Given the description of an element on the screen output the (x, y) to click on. 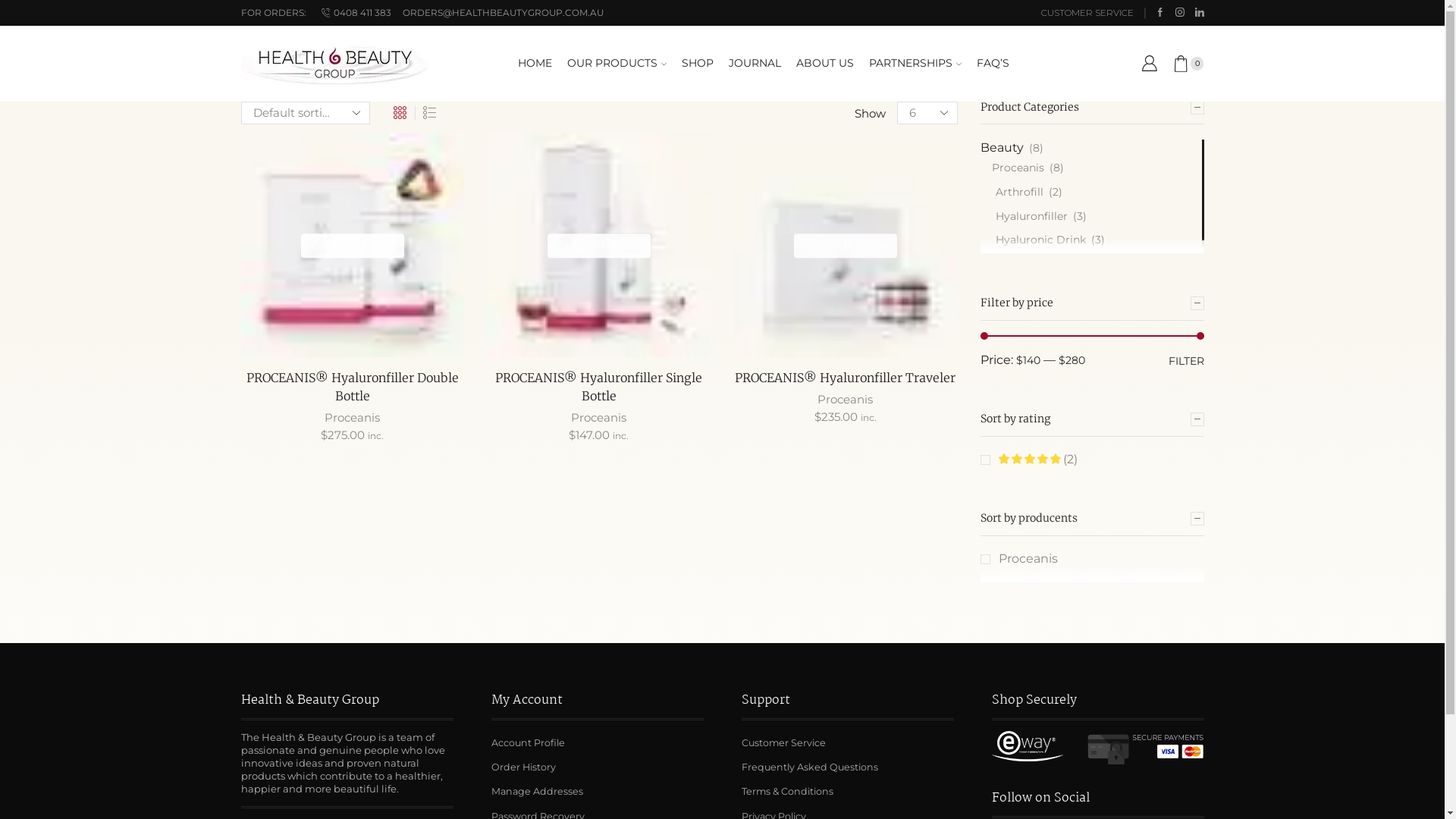
ORDERS@HEALTHBEAUTYGROUP.COM.AU Element type: text (508, 12)
Instagram Element type: hover (1179, 12)
LinkedIn Element type: hover (1199, 12)
SHOP Element type: text (697, 63)
PARTNERSHIPS Element type: text (915, 63)
FILTER Element type: text (1185, 359)
ABOUT US Element type: text (824, 63)
Hyaluronic Drink Element type: text (1032, 240)
CUSTOMER SERVICE Element type: text (1087, 12)
HOME Element type: text (534, 63)
Hyaluronfiller Element type: text (1022, 216)
Proceanis Element type: text (598, 417)
JOURNAL Element type: text (754, 63)
Facebook Element type: hover (1159, 12)
Proceanis Element type: text (1011, 168)
Arthrofill Element type: text (1010, 192)
Manage Addresses Element type: text (537, 791)
Customer Service Element type: text (783, 743)
OUR PRODUCTS Element type: text (616, 63)
Proceanis Element type: text (351, 417)
Rated out of 5
(2) Element type: text (1027, 459)
0 Element type: text (1187, 63)
Terms & Conditions Element type: text (787, 791)
Beauty Element type: text (1000, 147)
Account Profile Element type: text (527, 743)
Frequently Asked Questions Element type: text (809, 767)
Proceanis Element type: text (1018, 558)
Order History Element type: text (523, 767)
Proceanis Element type: text (844, 399)
